Given the description of an element on the screen output the (x, y) to click on. 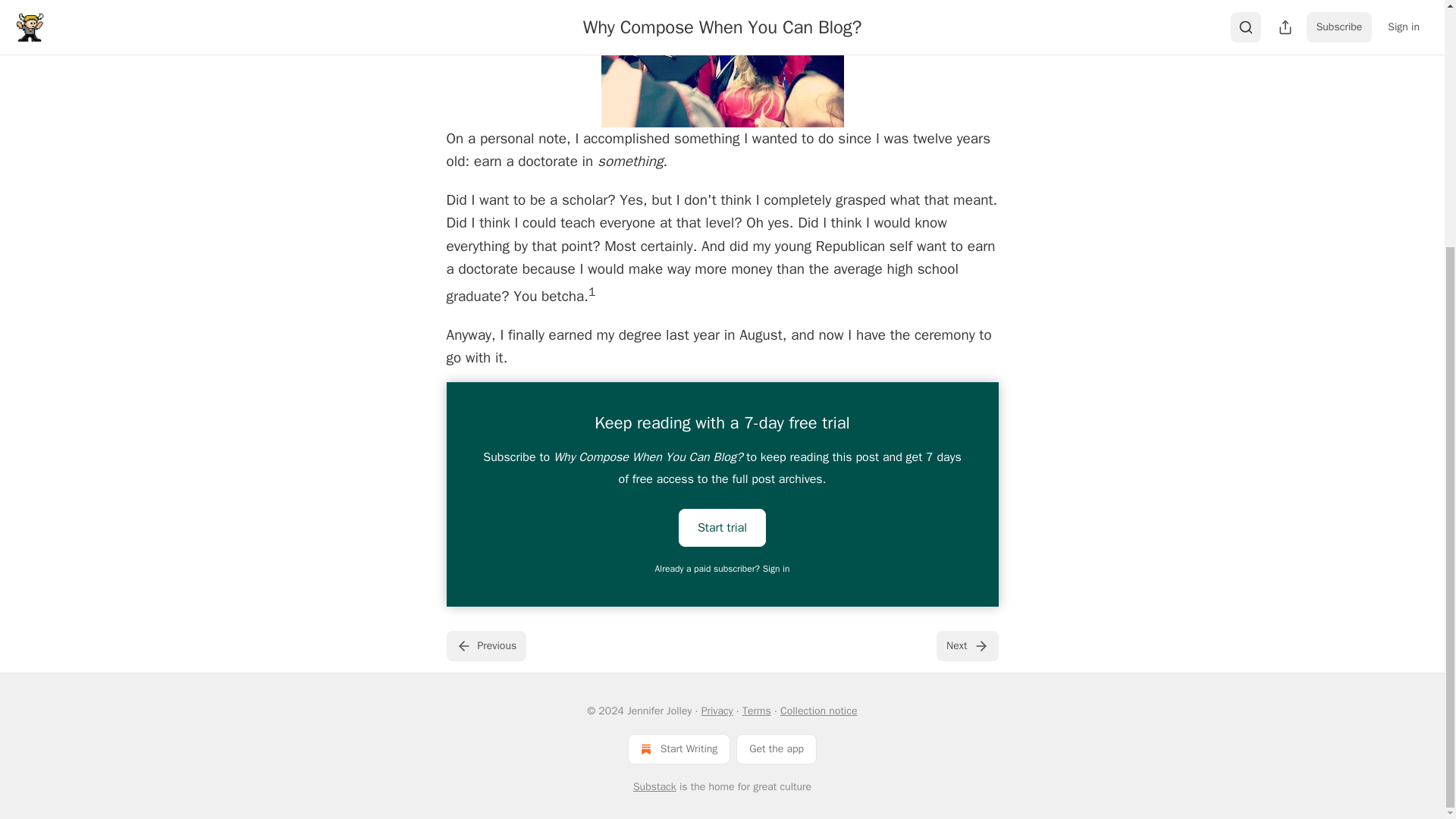
Start Writing (678, 748)
Start trial (721, 527)
Privacy (717, 710)
Substack (655, 786)
Get the app (776, 748)
Terms (756, 710)
Previous (485, 645)
Next (966, 645)
Already a paid subscriber? Sign in (722, 568)
Collection notice (818, 710)
Start trial (721, 526)
